Given the description of an element on the screen output the (x, y) to click on. 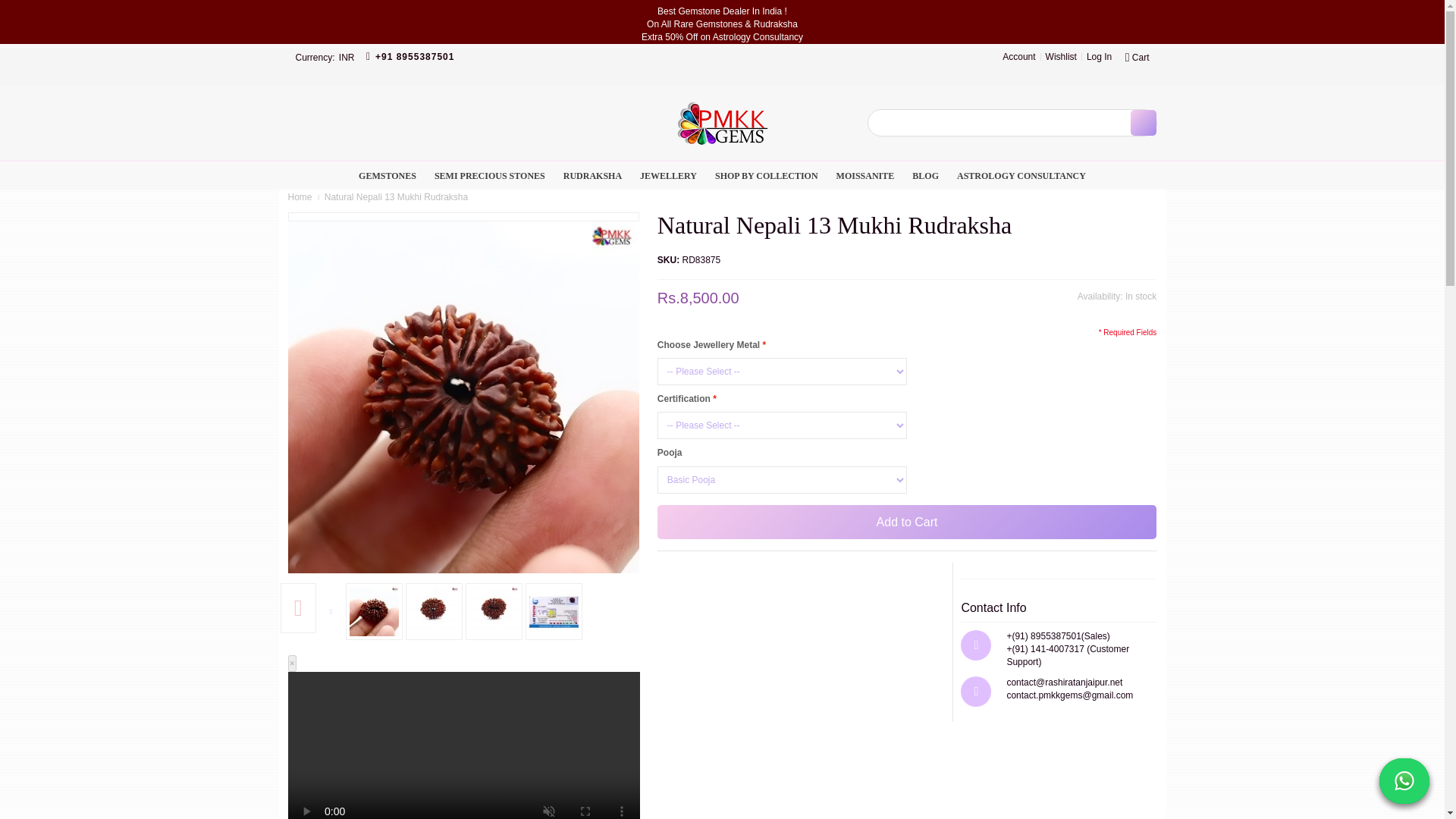
Natural Nepali 13 Mukhi Rudraksha (464, 397)
Search (1142, 122)
customer support (410, 56)
GEMSTONES (387, 175)
Cart (1136, 56)
Rashi Ratan Jaipur (721, 122)
Log In (1098, 56)
Wishlist (1061, 56)
Log In (1098, 56)
Go to Home Page (300, 196)
Wishlist (1061, 56)
Account (1019, 56)
Account (1019, 56)
Currency: INR (325, 56)
